Given the description of an element on the screen output the (x, y) to click on. 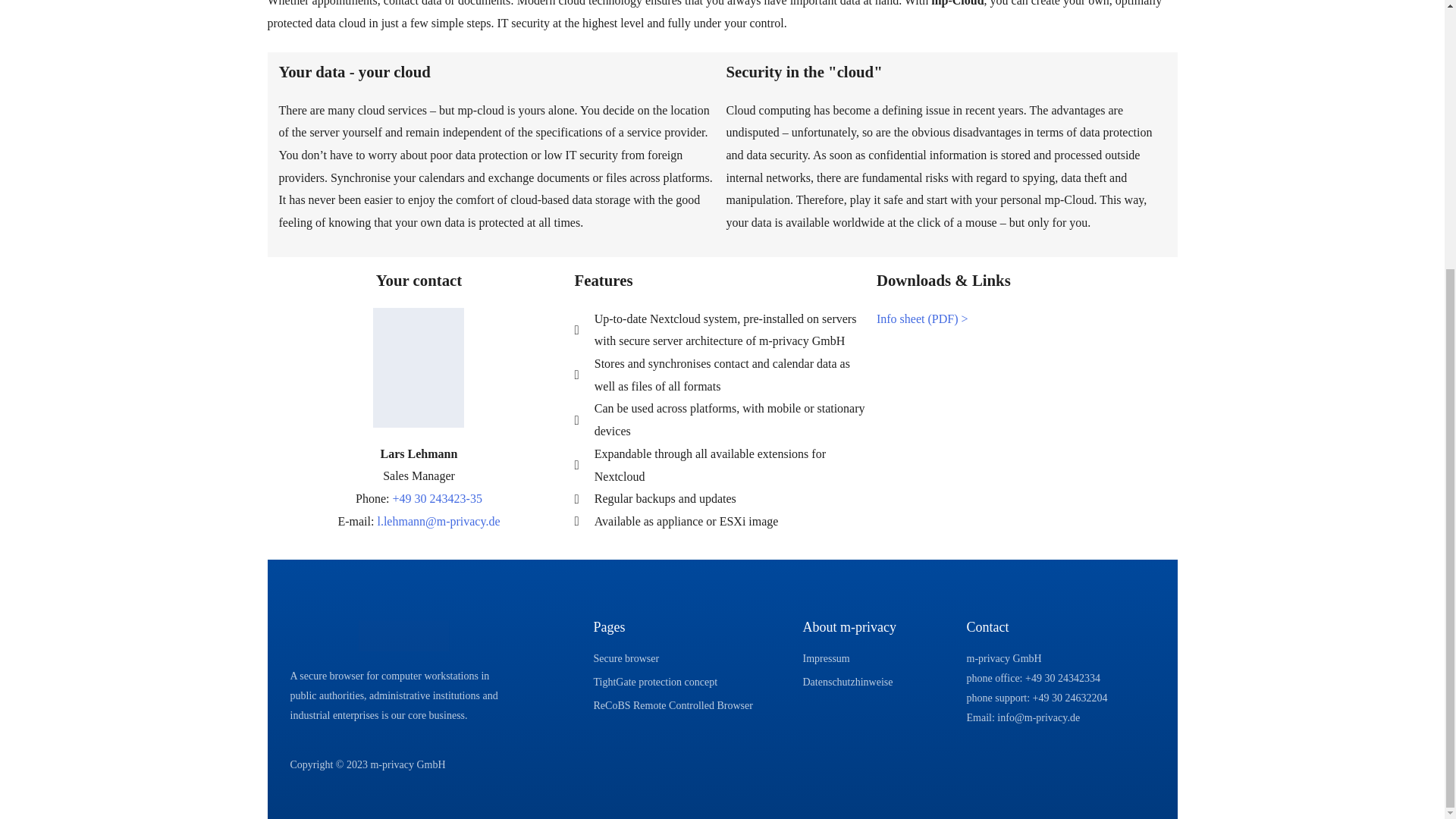
TightGate protection concept (689, 682)
ReCoBS Remote Controlled Browser (689, 705)
Secure browser (689, 659)
